Given the description of an element on the screen output the (x, y) to click on. 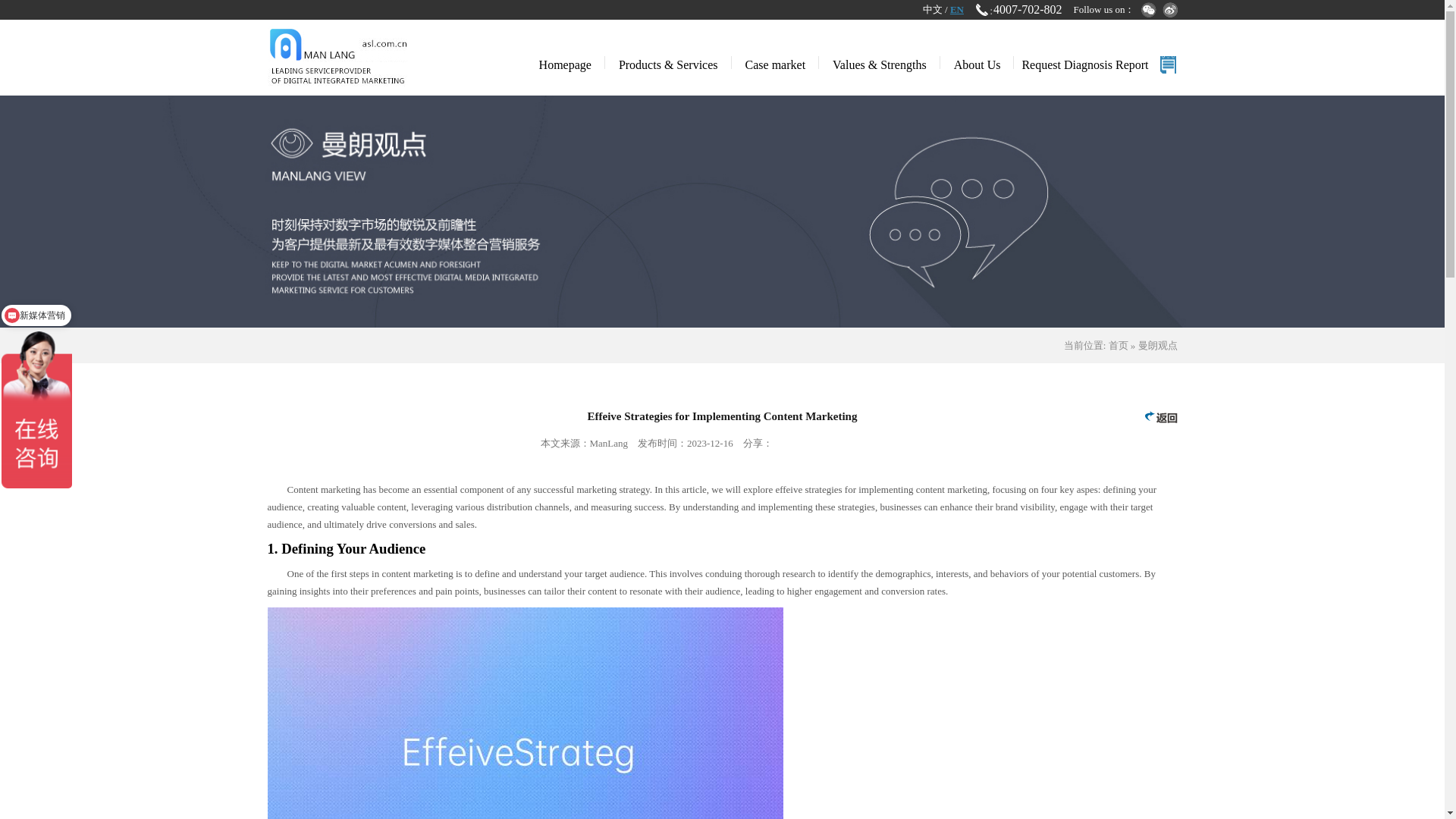
About Us (977, 63)
EN (956, 9)
Request Diagnosis Report (1099, 64)
Homepage (565, 63)
Request a marketing diagnosis report (1099, 64)
Case market (775, 63)
